Given the description of an element on the screen output the (x, y) to click on. 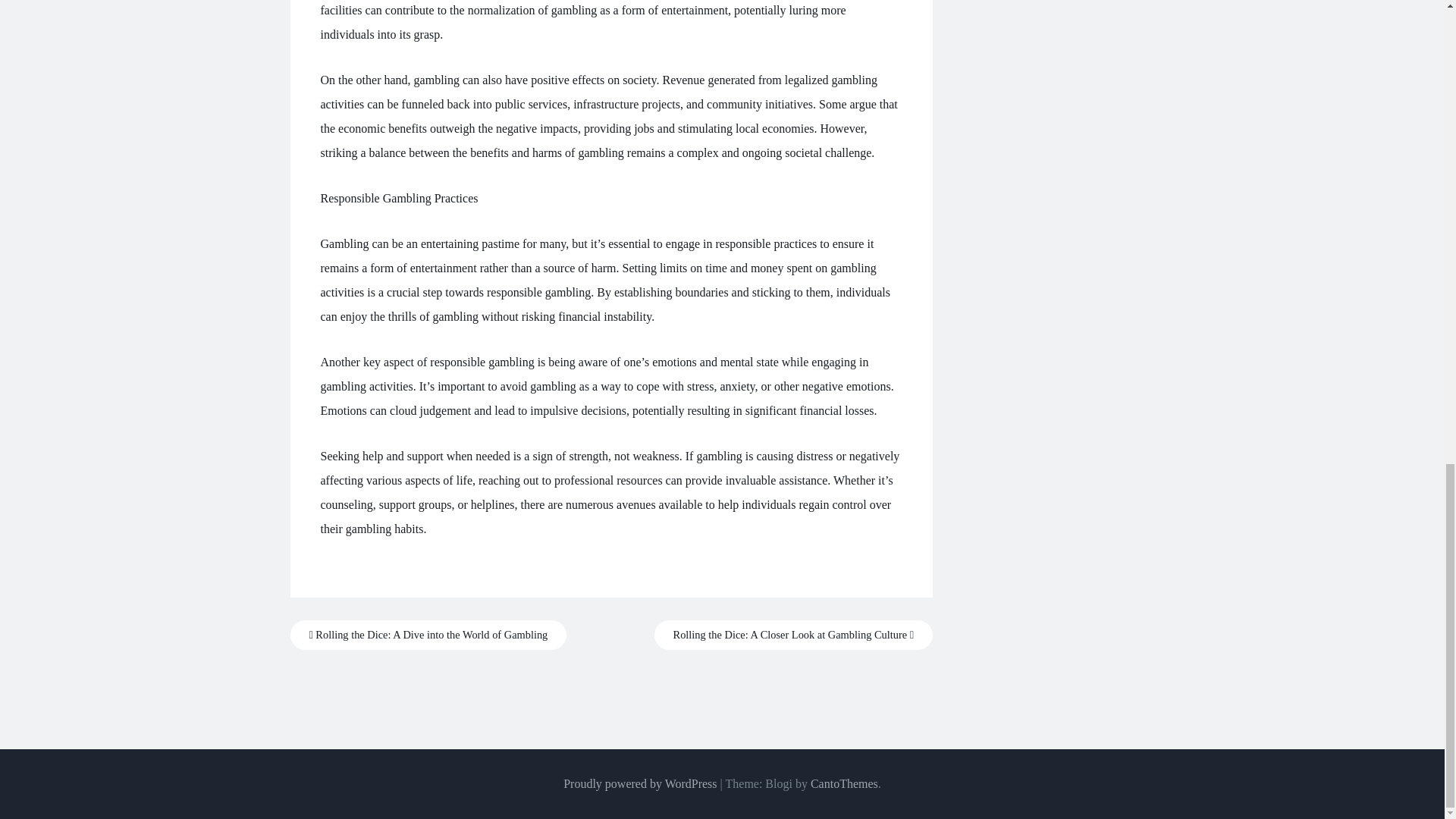
Rolling the Dice: A Closer Look at Gambling Culture (793, 634)
Proudly powered by WordPress (639, 783)
Rolling the Dice: A Dive into the World of Gambling (427, 634)
CantoThemes (843, 783)
